Given the description of an element on the screen output the (x, y) to click on. 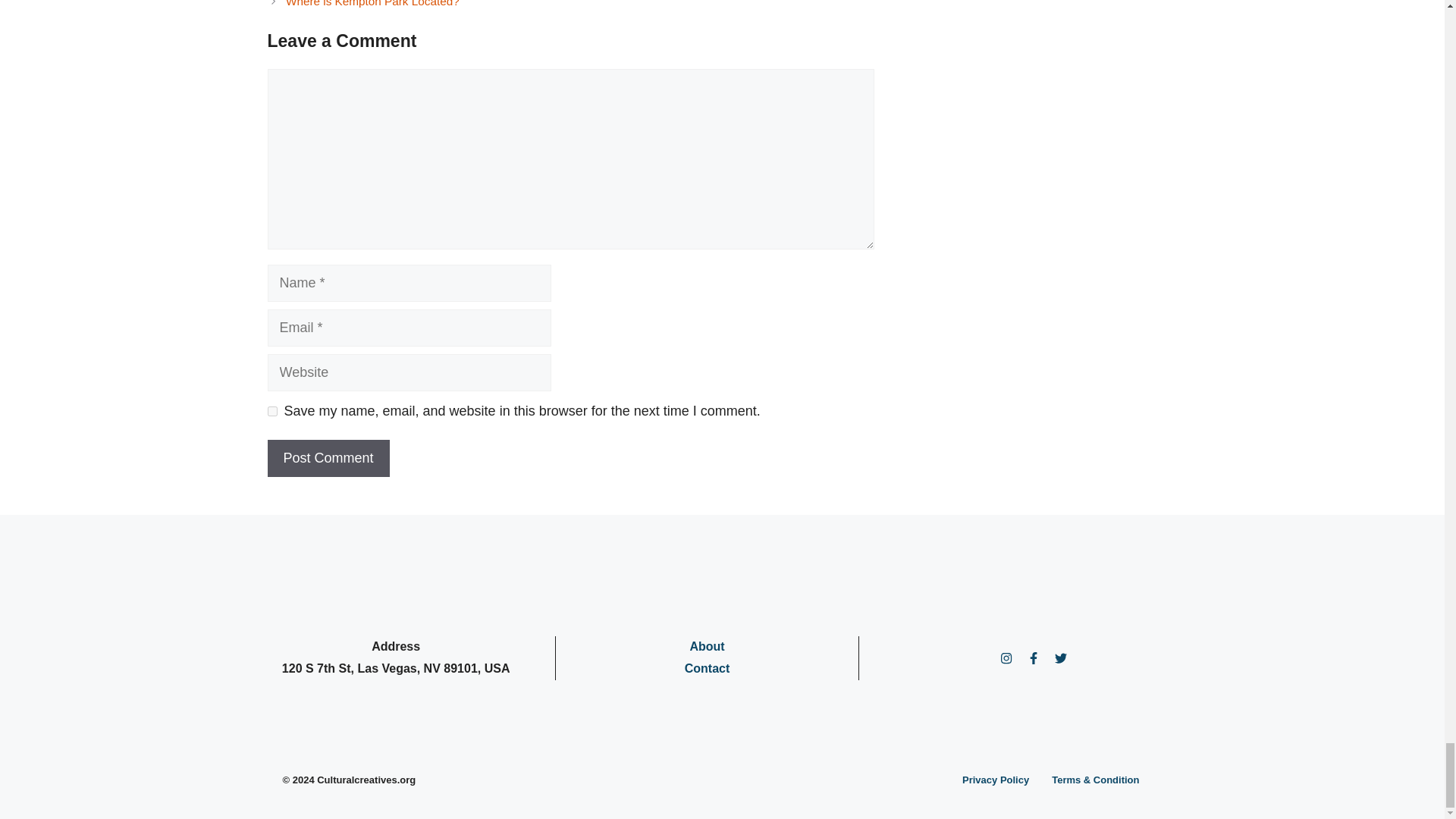
Contact (707, 667)
Where is Kempton Park Located? (372, 3)
yes (271, 411)
Post Comment (327, 457)
About (705, 645)
Post Comment (327, 457)
